Given the description of an element on the screen output the (x, y) to click on. 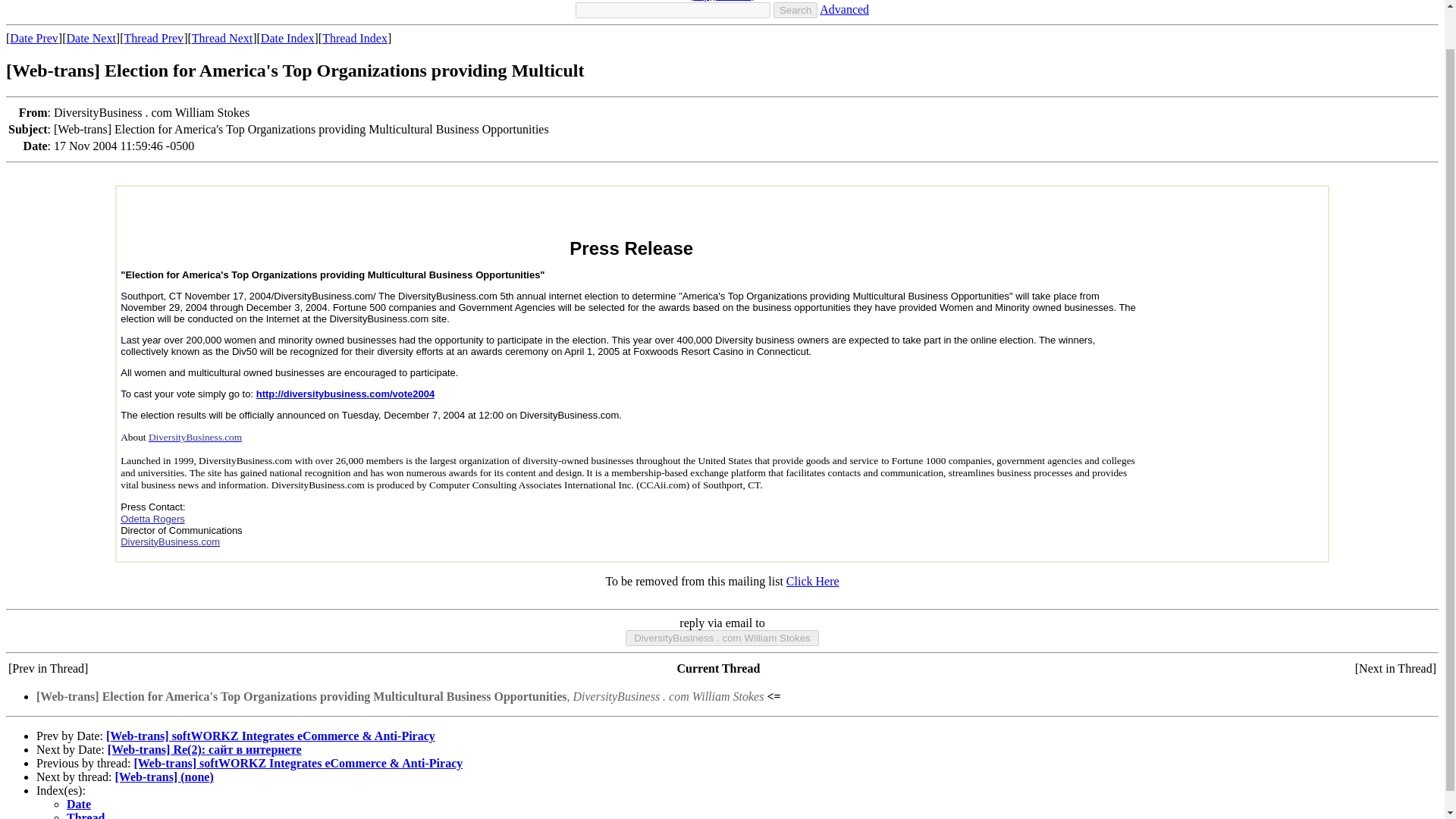
Search (794, 10)
 DiversityBusiness . com William Stokes  (722, 637)
Thread Index (354, 38)
Date Prev (34, 38)
Date Next (91, 38)
Date Index (287, 38)
Search (794, 10)
Odetta Rogers (152, 518)
Thread Next (221, 38)
Thread Prev (153, 38)
Date (78, 803)
Advanced (844, 9)
DiversityBusiness.com (194, 437)
 DiversityBusiness . com William Stokes  (722, 637)
